Given the description of an element on the screen output the (x, y) to click on. 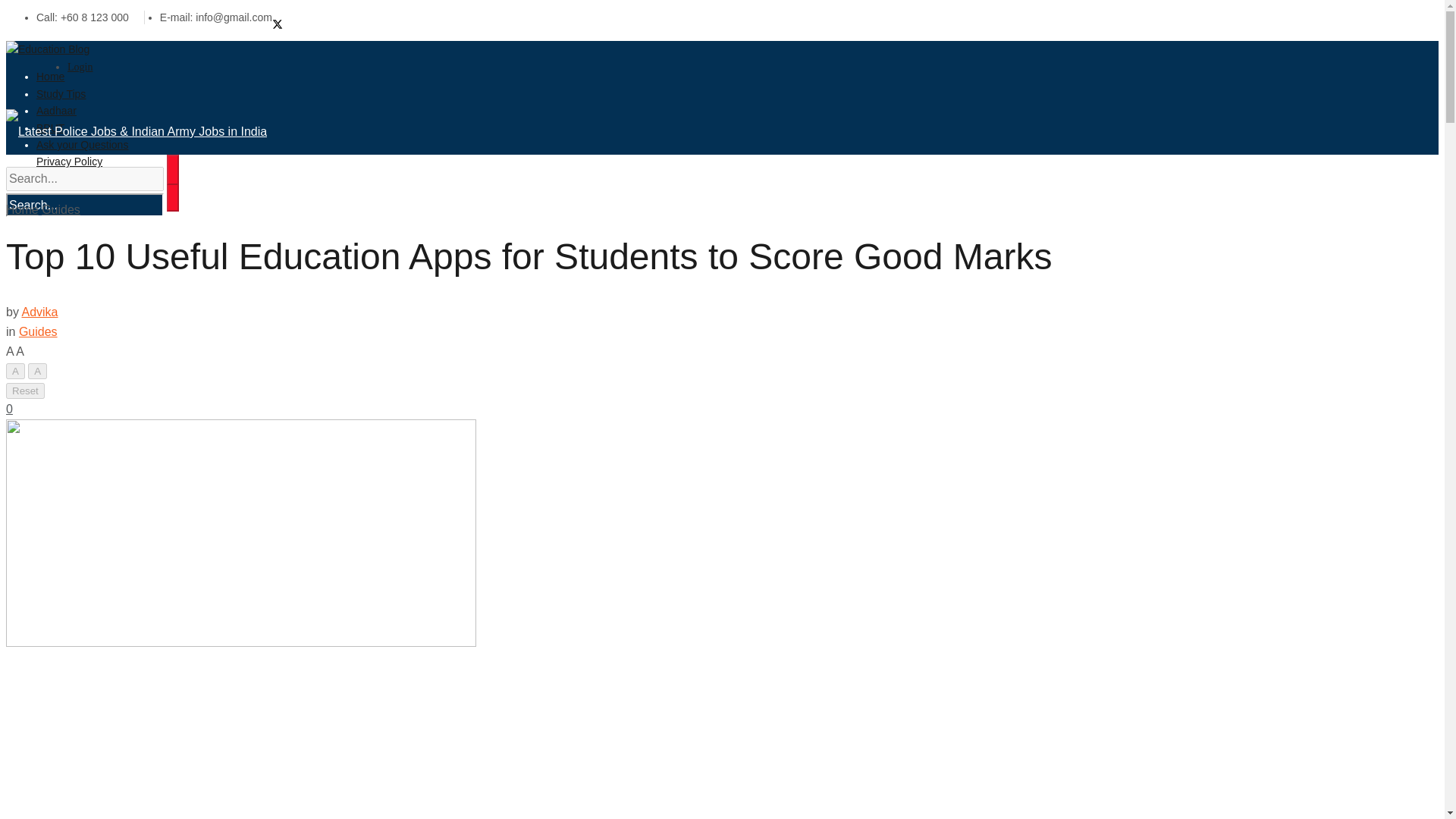
Home (22, 209)
Guides (61, 209)
Privacy Policy (68, 161)
Home (50, 76)
A (14, 371)
A (36, 371)
Study Tips (60, 94)
Guides (38, 331)
Login (79, 66)
Aadhaar (56, 110)
